Given the description of an element on the screen output the (x, y) to click on. 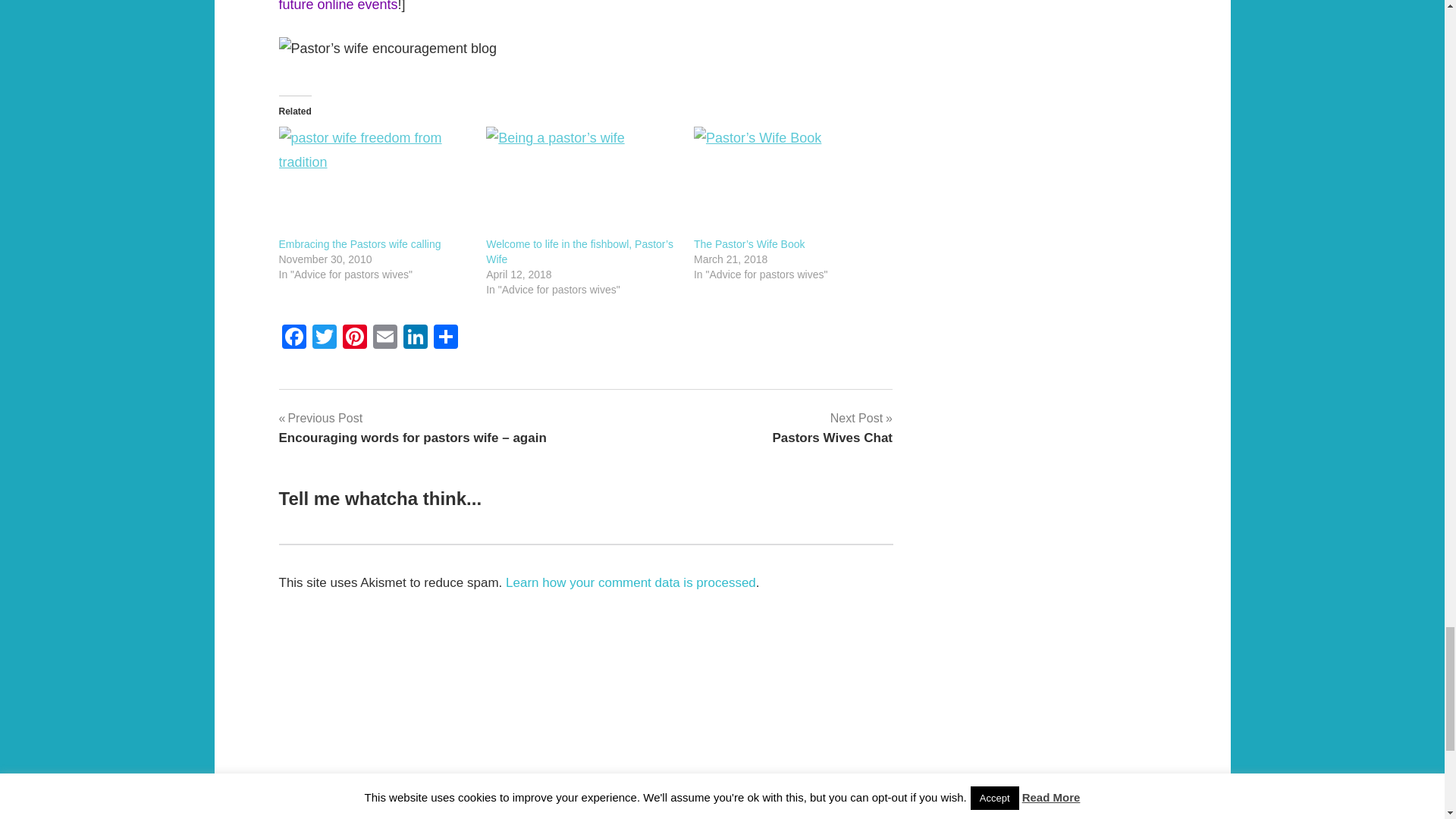
Pinterest (354, 338)
Share (445, 338)
LinkedIn (415, 338)
Facebook (293, 338)
Twitter (323, 338)
Embracing the Pastors wife calling (360, 244)
Email (384, 338)
Embracing the Pastors wife calling (375, 181)
Twitter (831, 427)
Pinterest (323, 338)
Facebook (354, 338)
LinkedIn (293, 338)
Email (415, 338)
